Given the description of an element on the screen output the (x, y) to click on. 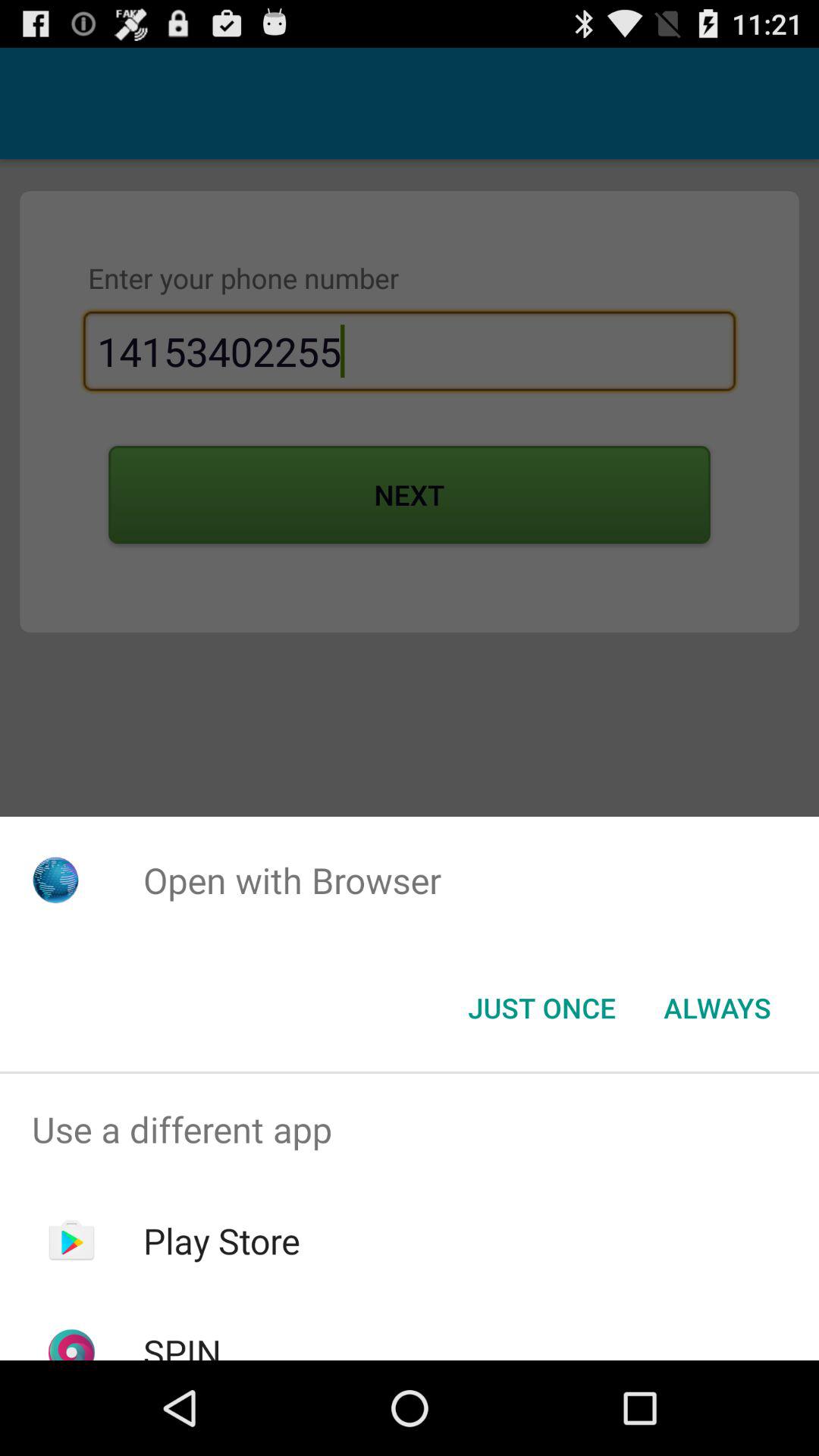
swipe to just once item (541, 1007)
